Given the description of an element on the screen output the (x, y) to click on. 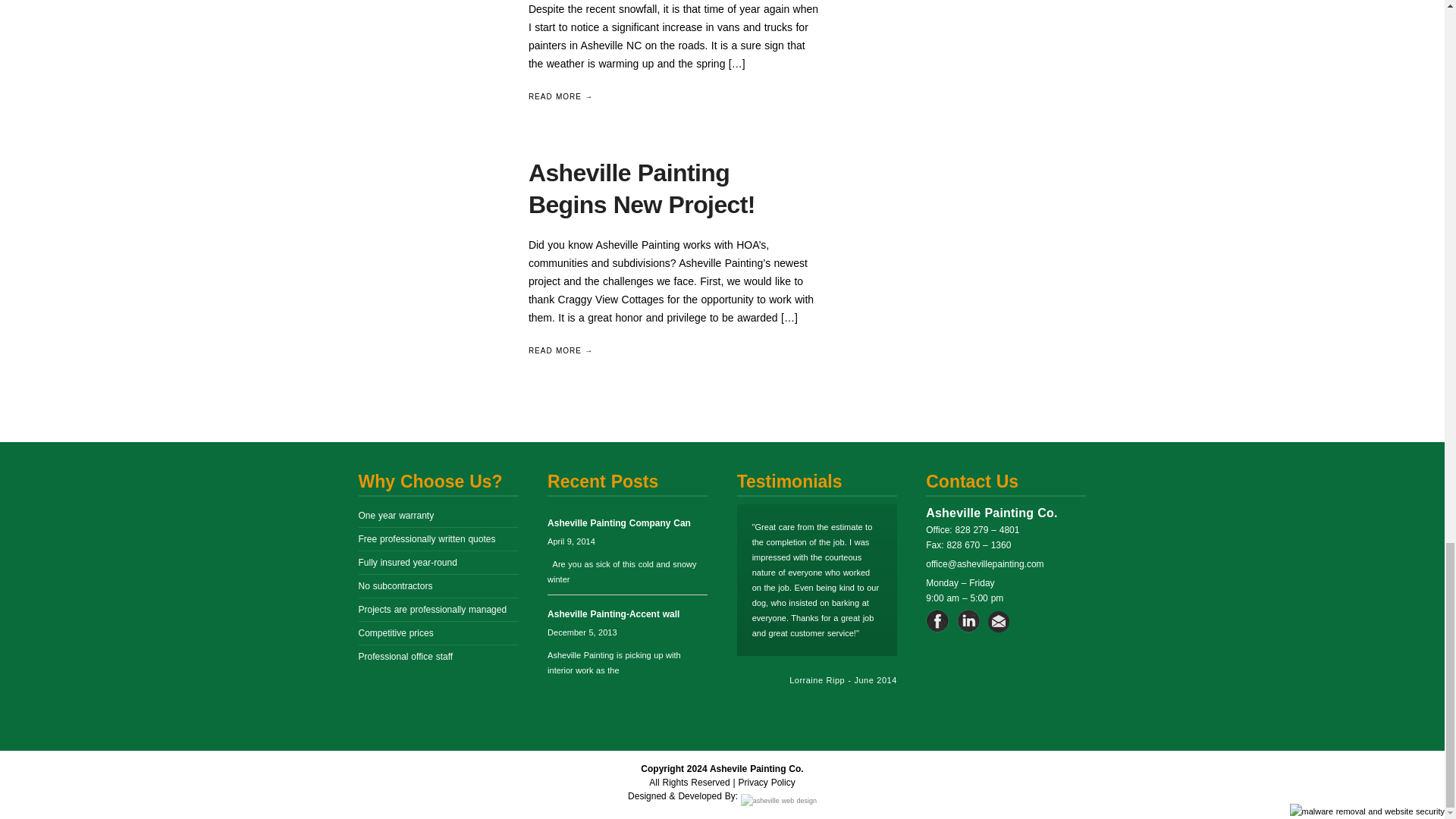
Asheville Painting-Accent wall (613, 614)
Asheville Painting Begins New Project! (641, 188)
Painters in Asheville NC are Popping up like Spring Flowers! (433, 20)
Asheville Painting Begins New Project! (433, 233)
Asheville Painting Company Can (618, 522)
